Given the description of an element on the screen output the (x, y) to click on. 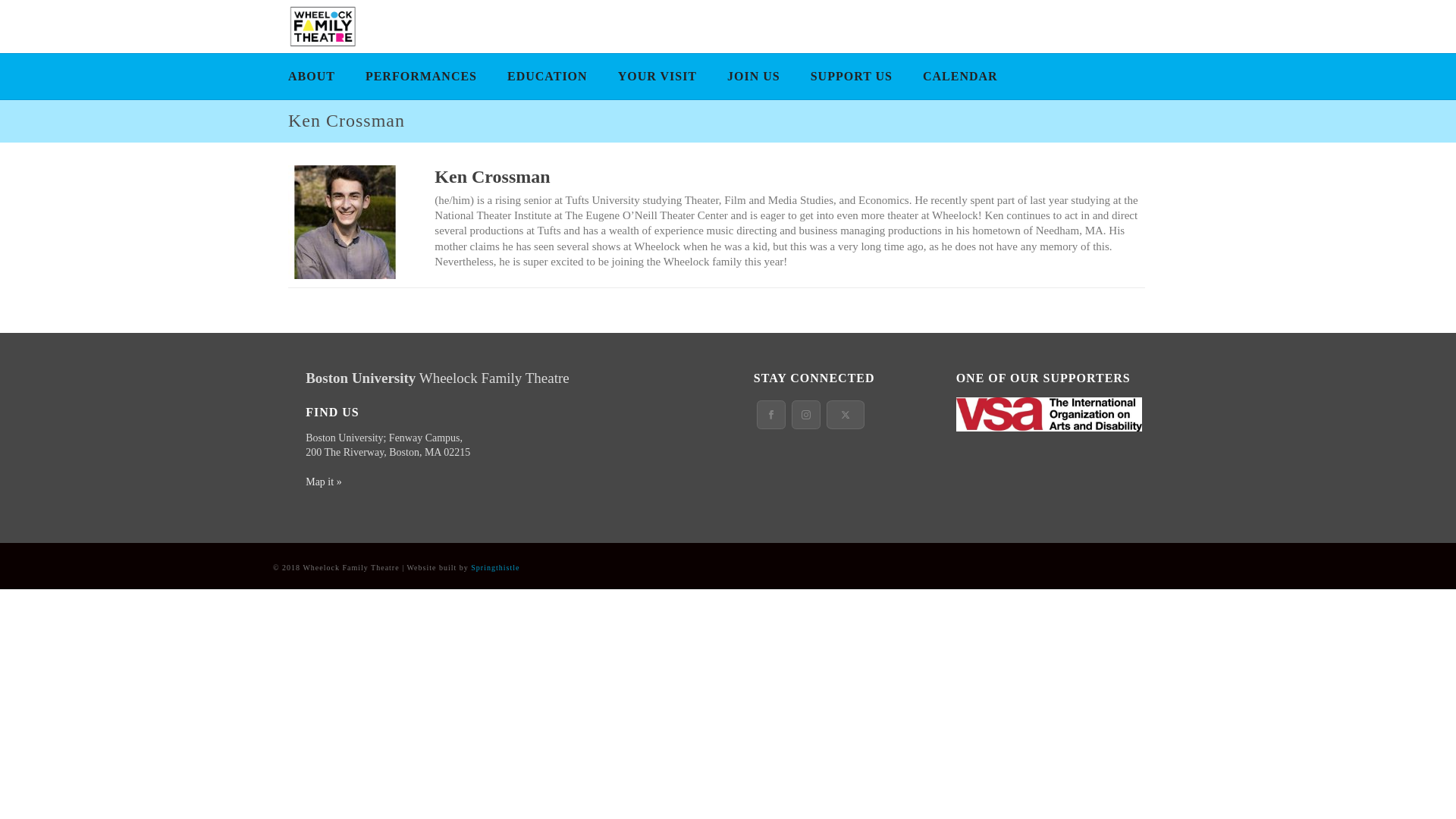
headshot-kenneth-crossman (344, 222)
Follow Us on twitter (845, 414)
Wheelock Family Theatre (321, 26)
SUPPORT US (850, 76)
EDUCATION (547, 76)
ABOUT (312, 76)
YOUR VISIT (657, 76)
Follow Us on facebook (771, 414)
EDUCATION (547, 76)
YOUR VISIT (657, 76)
PERFORMANCES (421, 76)
JOIN US (753, 76)
Professional, Accessible Theatre in the Heart of Boston (321, 26)
ABOUT (312, 76)
Follow Us on instagram (806, 414)
